Given the description of an element on the screen output the (x, y) to click on. 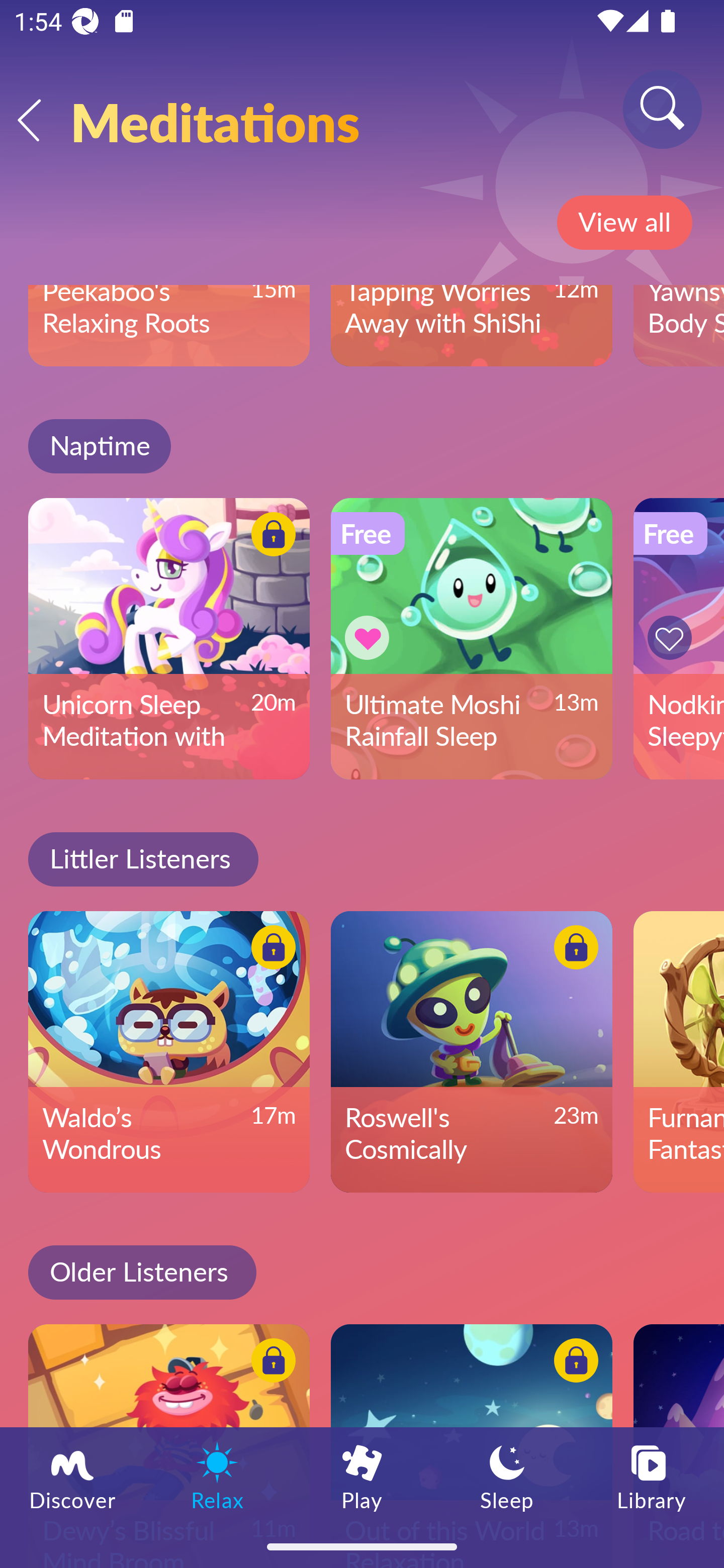
View all (624, 222)
Button (269, 537)
Button (369, 637)
Button (672, 637)
Button (269, 950)
Button (573, 950)
Button (269, 1363)
Button (573, 1363)
Discover (72, 1475)
Play (361, 1475)
Sleep (506, 1475)
Library (651, 1475)
